Given the description of an element on the screen output the (x, y) to click on. 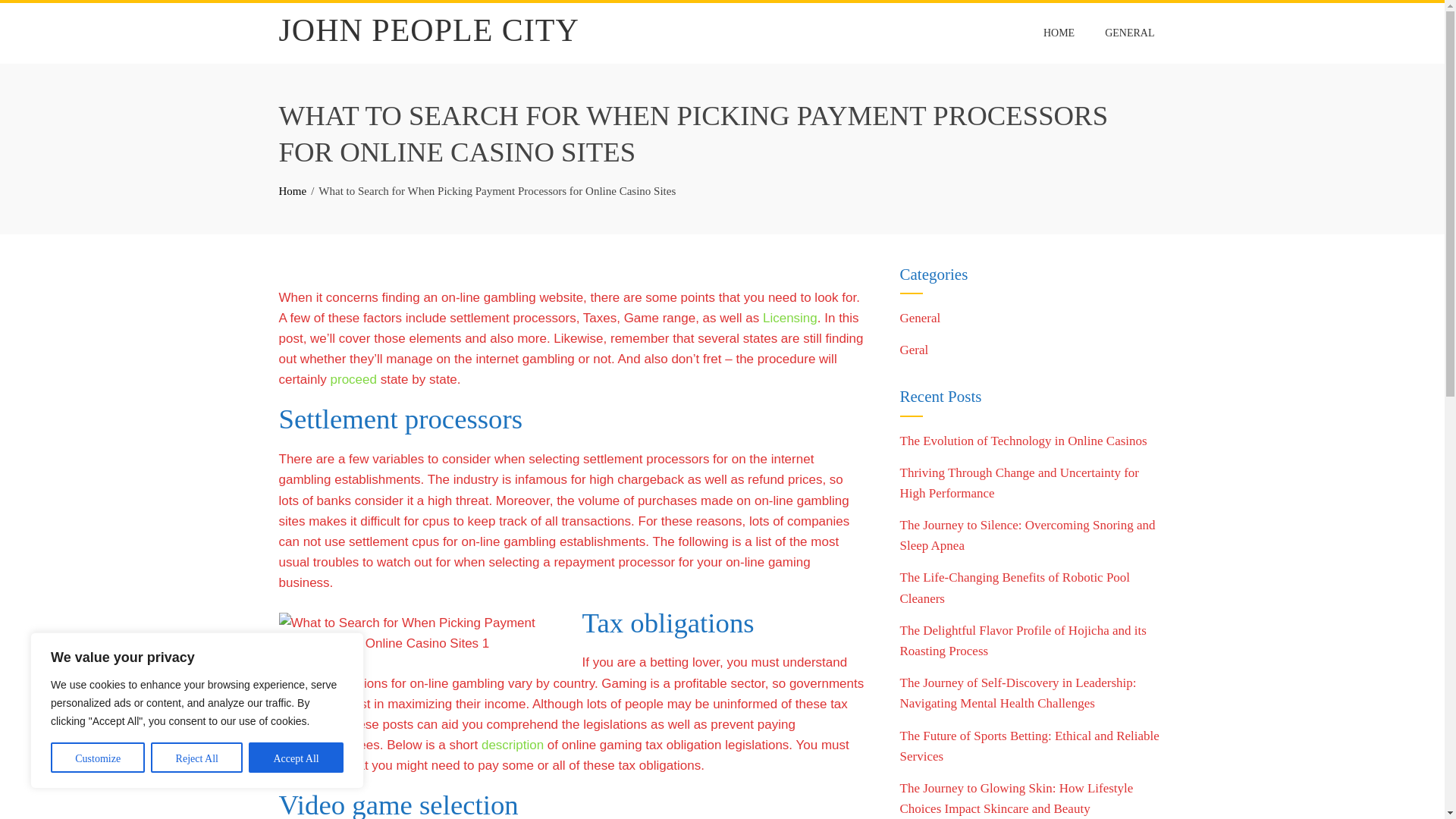
Thriving Through Change and Uncertainty for High Performance (1018, 483)
proceed (353, 379)
General (919, 318)
JOHN PEOPLE CITY (429, 30)
Home (293, 191)
GENERAL (1129, 32)
Reject All (197, 757)
description (512, 744)
Geral (913, 350)
Customize (97, 757)
The Life-Changing Benefits of Robotic Pool Cleaners (1014, 587)
Licensing (789, 318)
HOME (1059, 32)
